Given the description of an element on the screen output the (x, y) to click on. 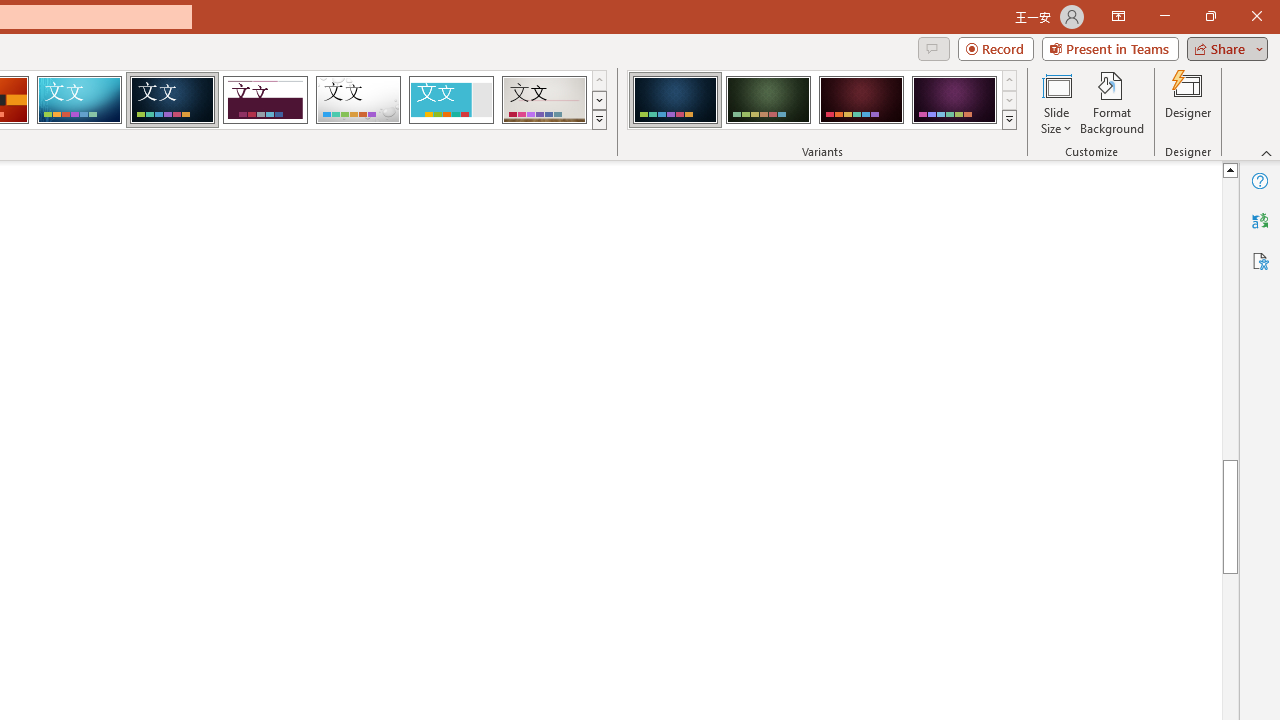
Damask Variant 4 (953, 100)
